Given the description of an element on the screen output the (x, y) to click on. 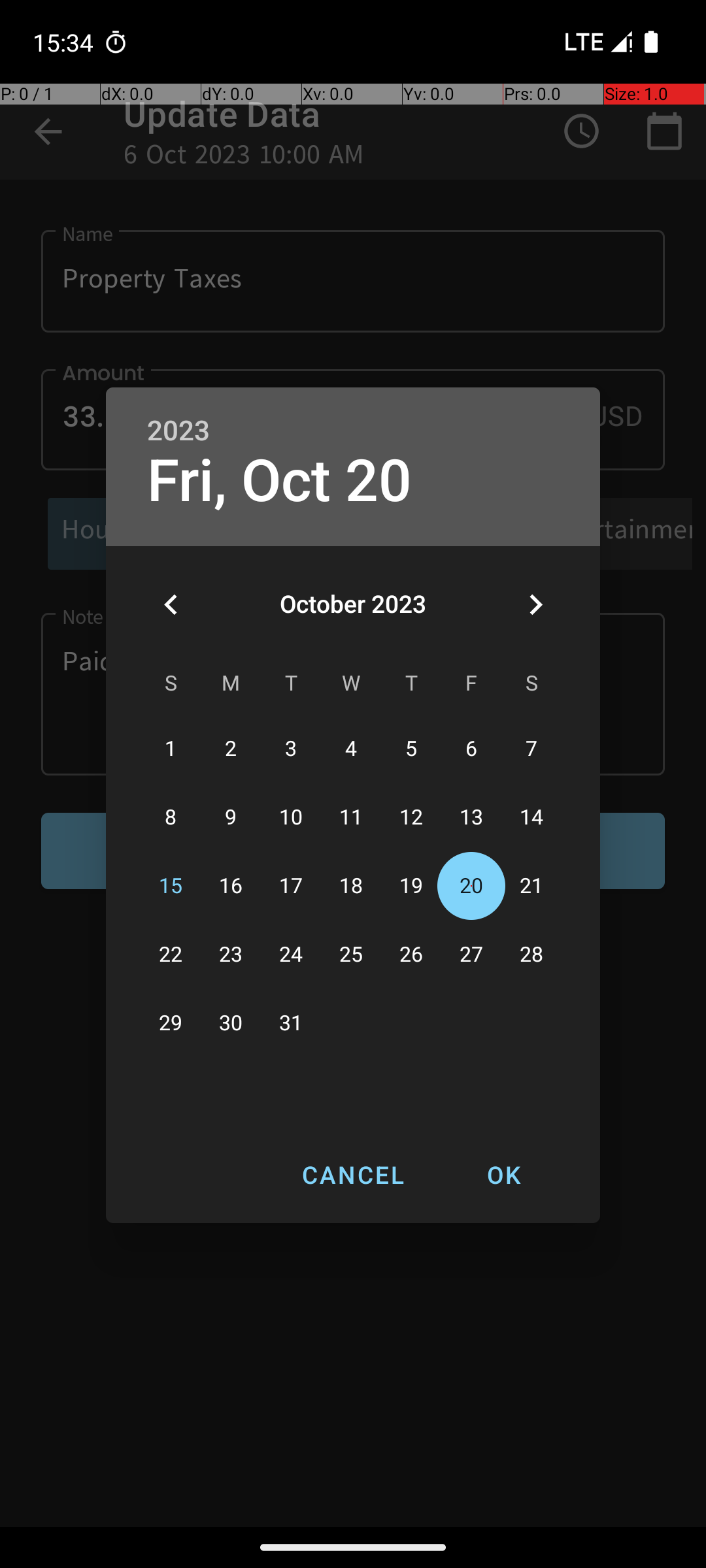
Fri, Oct 20 Element type: android.widget.TextView (279, 480)
